Given the description of an element on the screen output the (x, y) to click on. 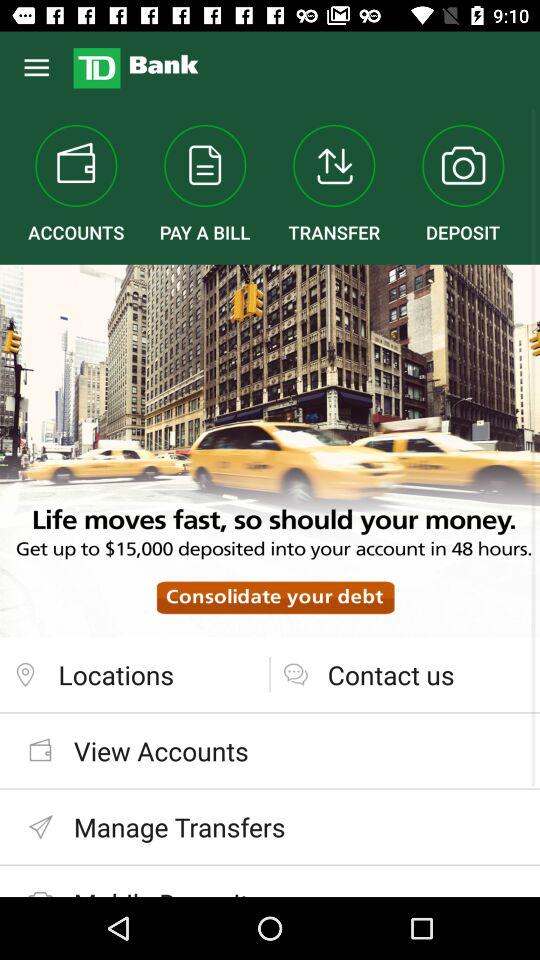
flip until the transfer icon (333, 184)
